Given the description of an element on the screen output the (x, y) to click on. 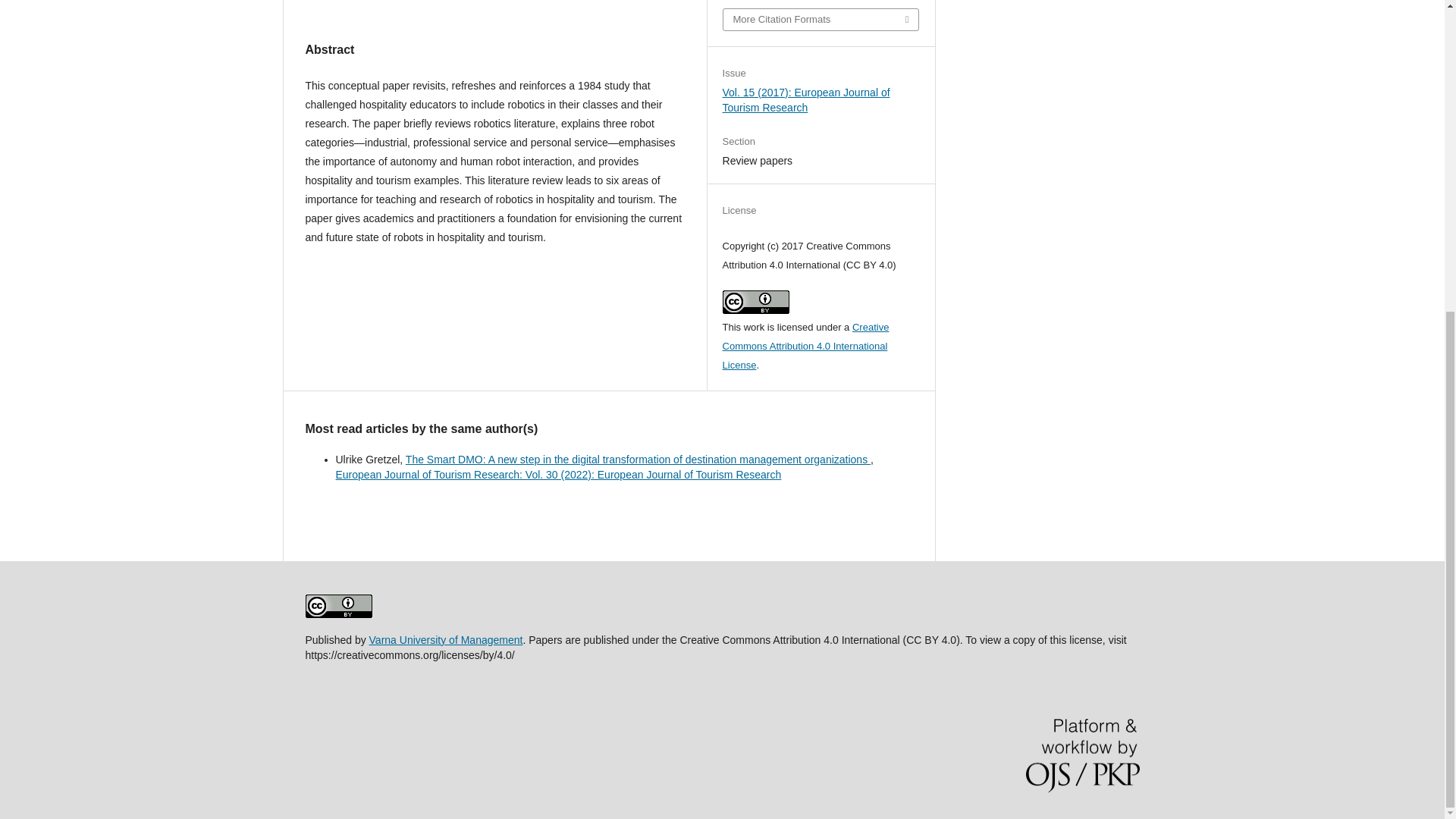
More Citation Formats (820, 19)
